Given the description of an element on the screen output the (x, y) to click on. 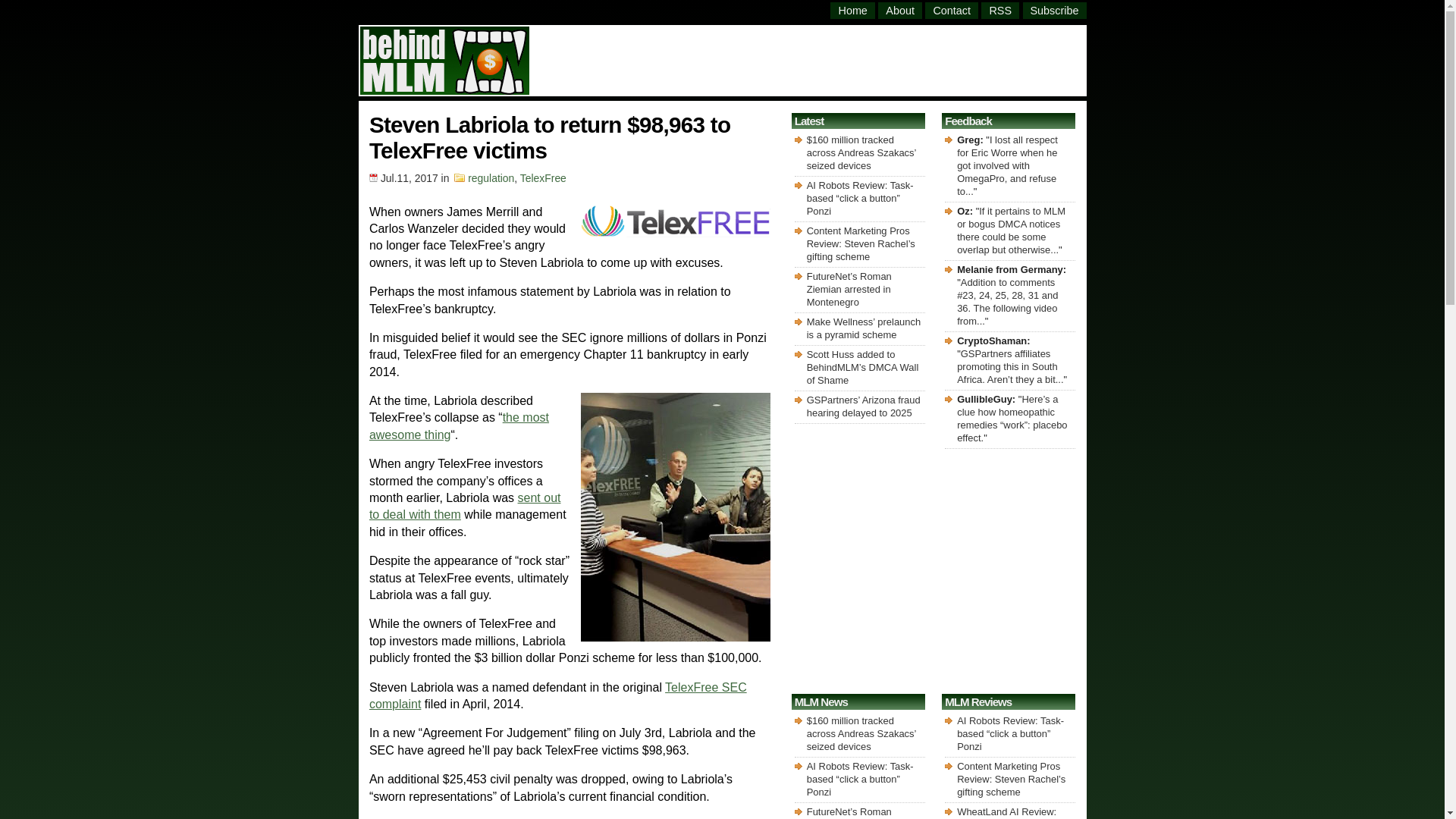
the most awesome thing (458, 425)
TelexFree (542, 177)
regulation (490, 177)
sent out to deal with them (464, 505)
